Given the description of an element on the screen output the (x, y) to click on. 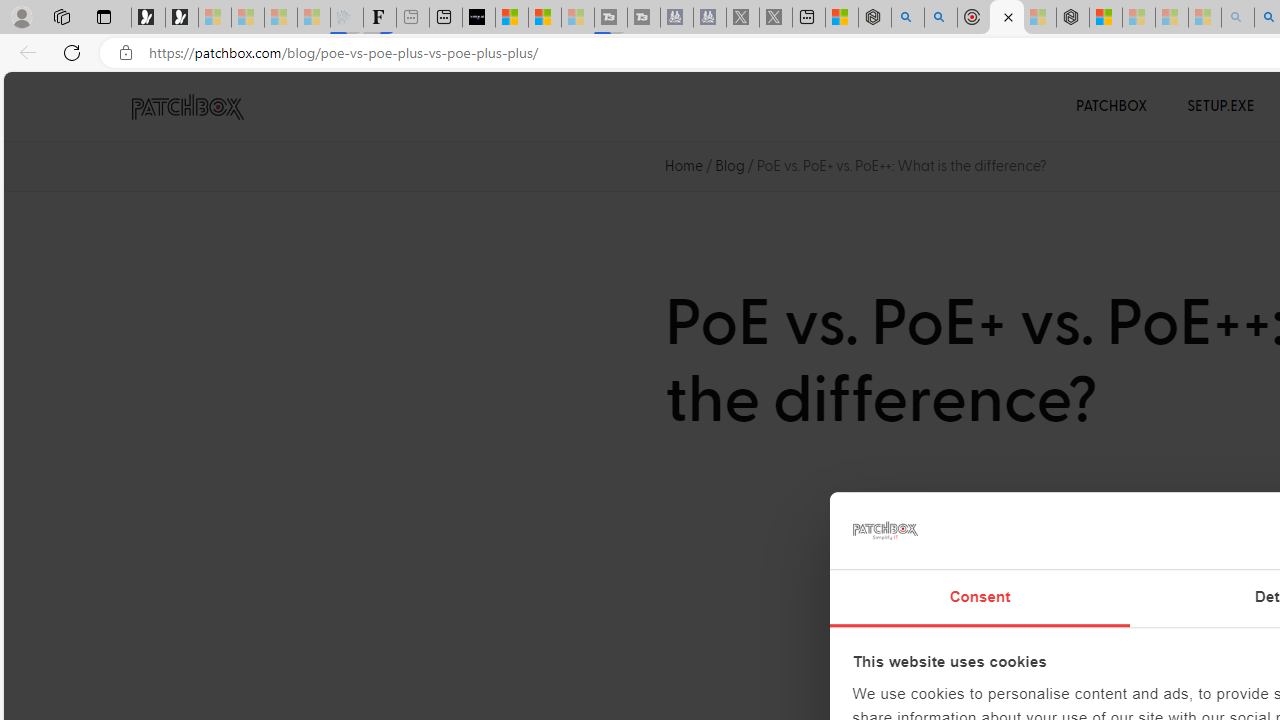
Streaming Coverage | T3 - Sleeping (611, 17)
PATCHBOX (1111, 106)
poe ++ standard - Search (941, 17)
Newsletter Sign Up (182, 17)
SETUP.EXE (1220, 106)
